Given the description of an element on the screen output the (x, y) to click on. 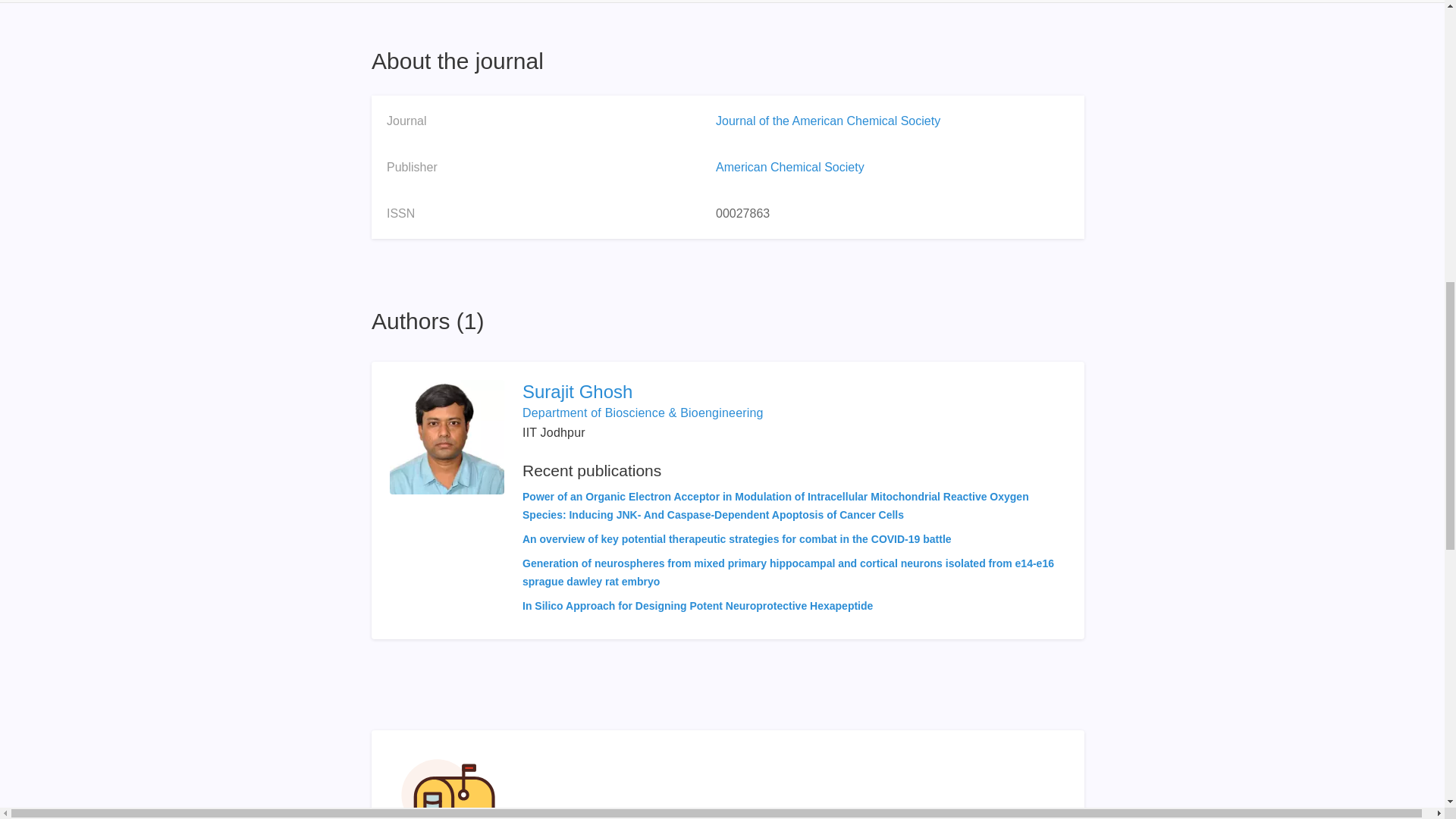
Surajit Ghosh (793, 392)
Journal of the American Chemical Society (828, 120)
Subscribe form hero illustration (448, 783)
American Chemical Society (790, 166)
Journal Details (427, 1)
